Given the description of an element on the screen output the (x, y) to click on. 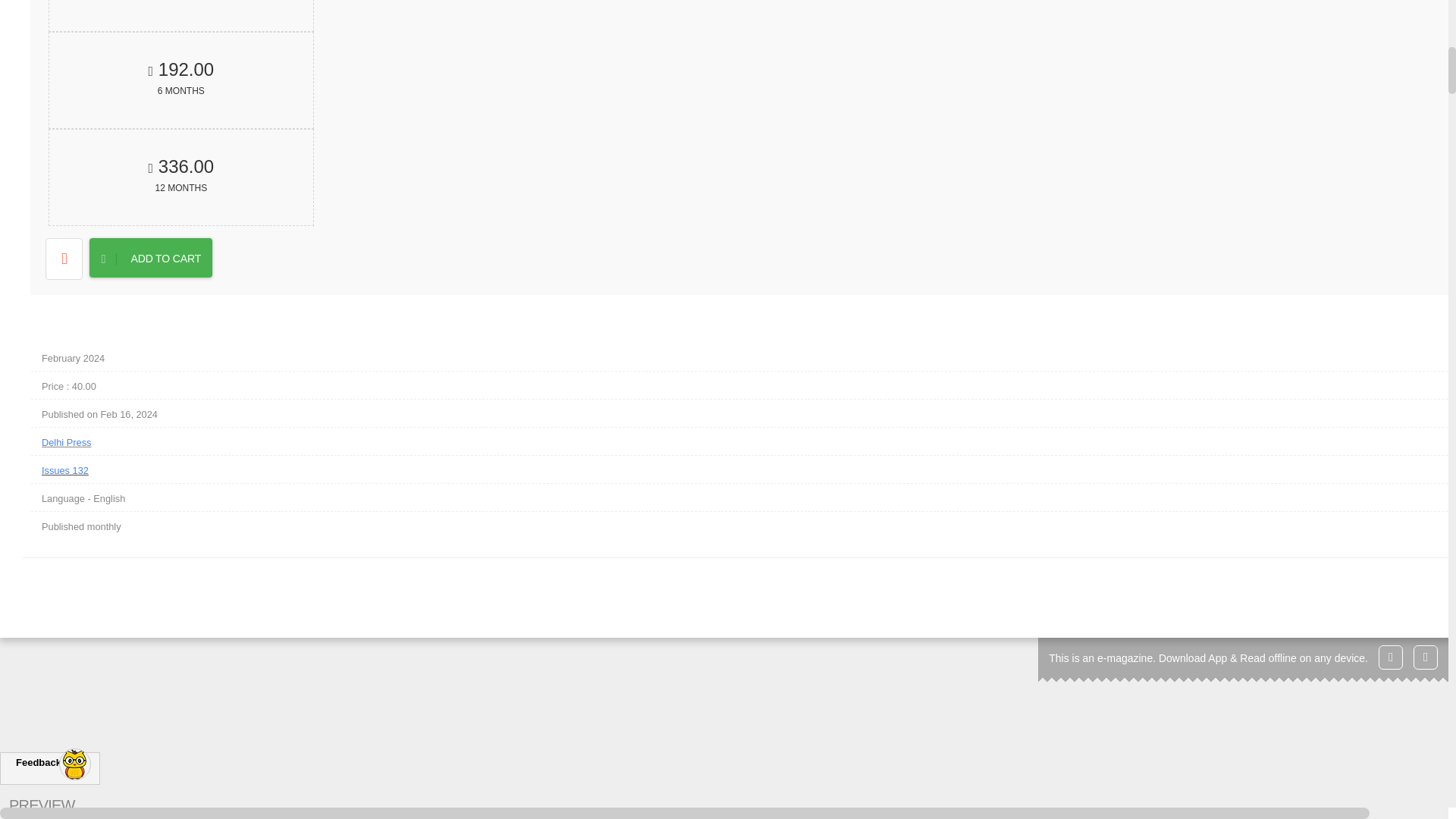
Readwhere android app (1425, 657)
Issues 132 (181, 79)
ADD TO CART (181, 15)
Delhi Press (749, 469)
Readwhere ios app (150, 258)
